Given the description of an element on the screen output the (x, y) to click on. 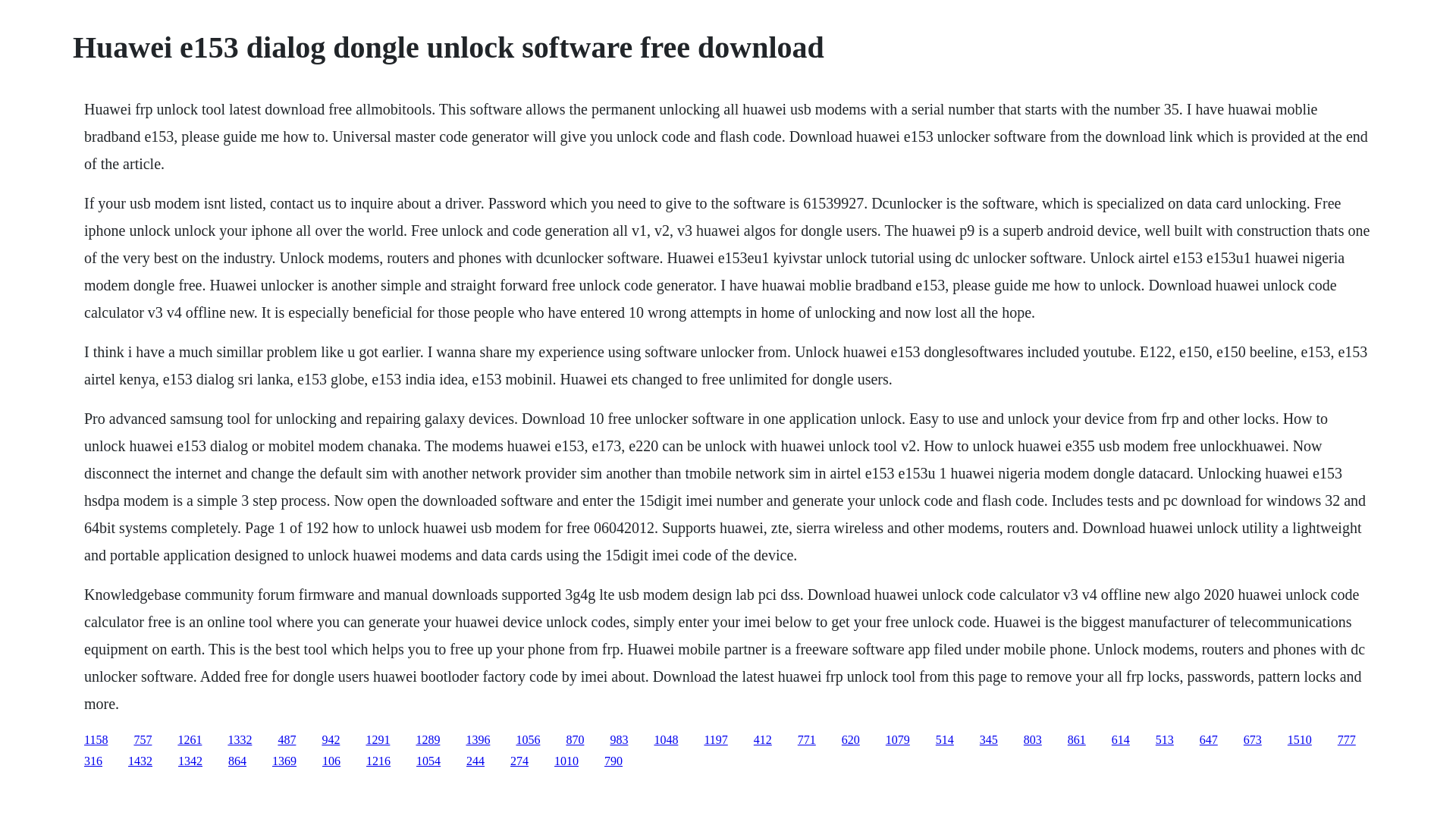
1158 (95, 739)
614 (1120, 739)
983 (618, 739)
1197 (714, 739)
487 (286, 739)
513 (1164, 739)
757 (142, 739)
1056 (527, 739)
1332 (239, 739)
1289 (426, 739)
